Given the description of an element on the screen output the (x, y) to click on. 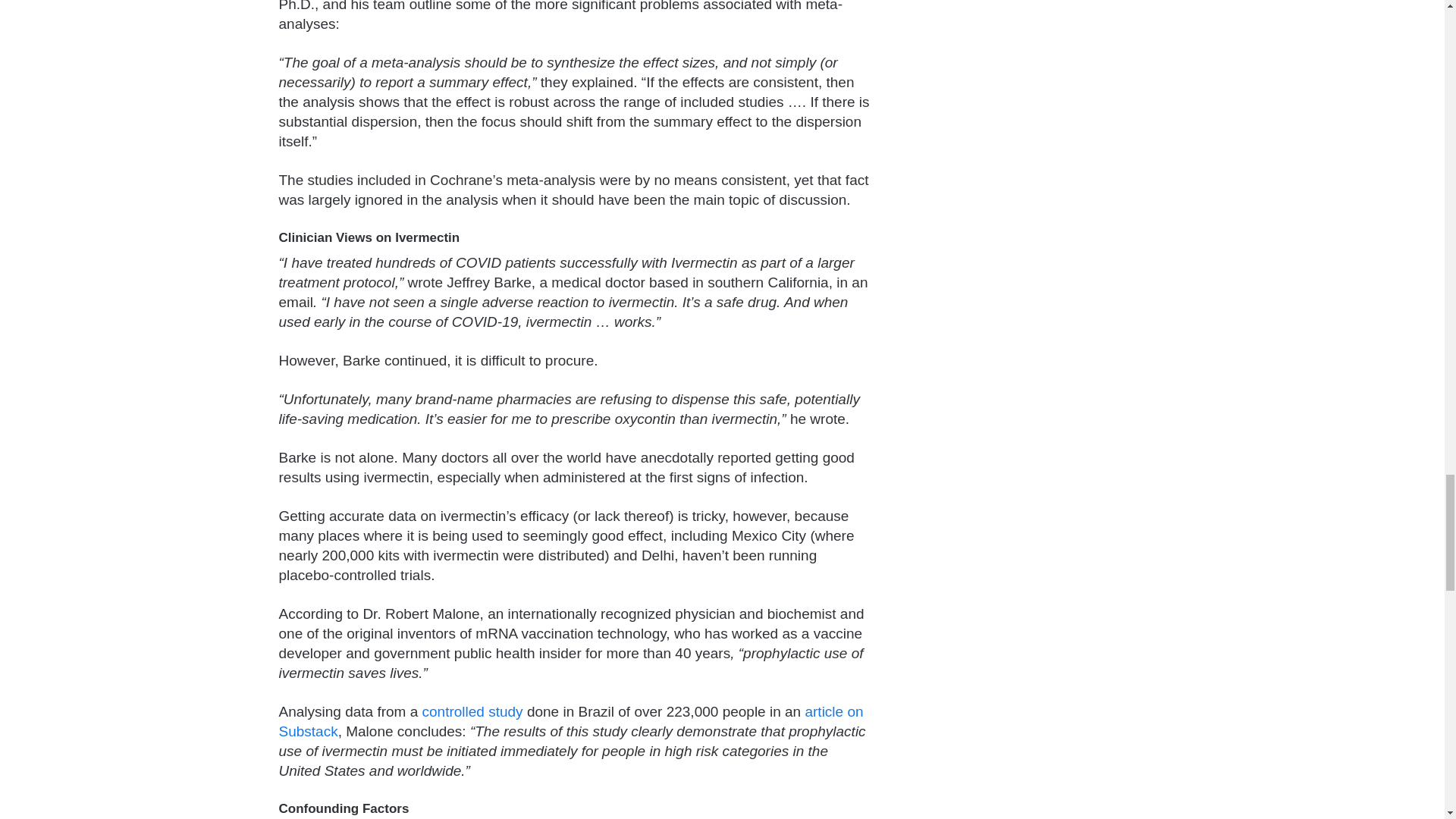
controlled study (472, 711)
article on Substack (571, 721)
